Given the description of an element on the screen output the (x, y) to click on. 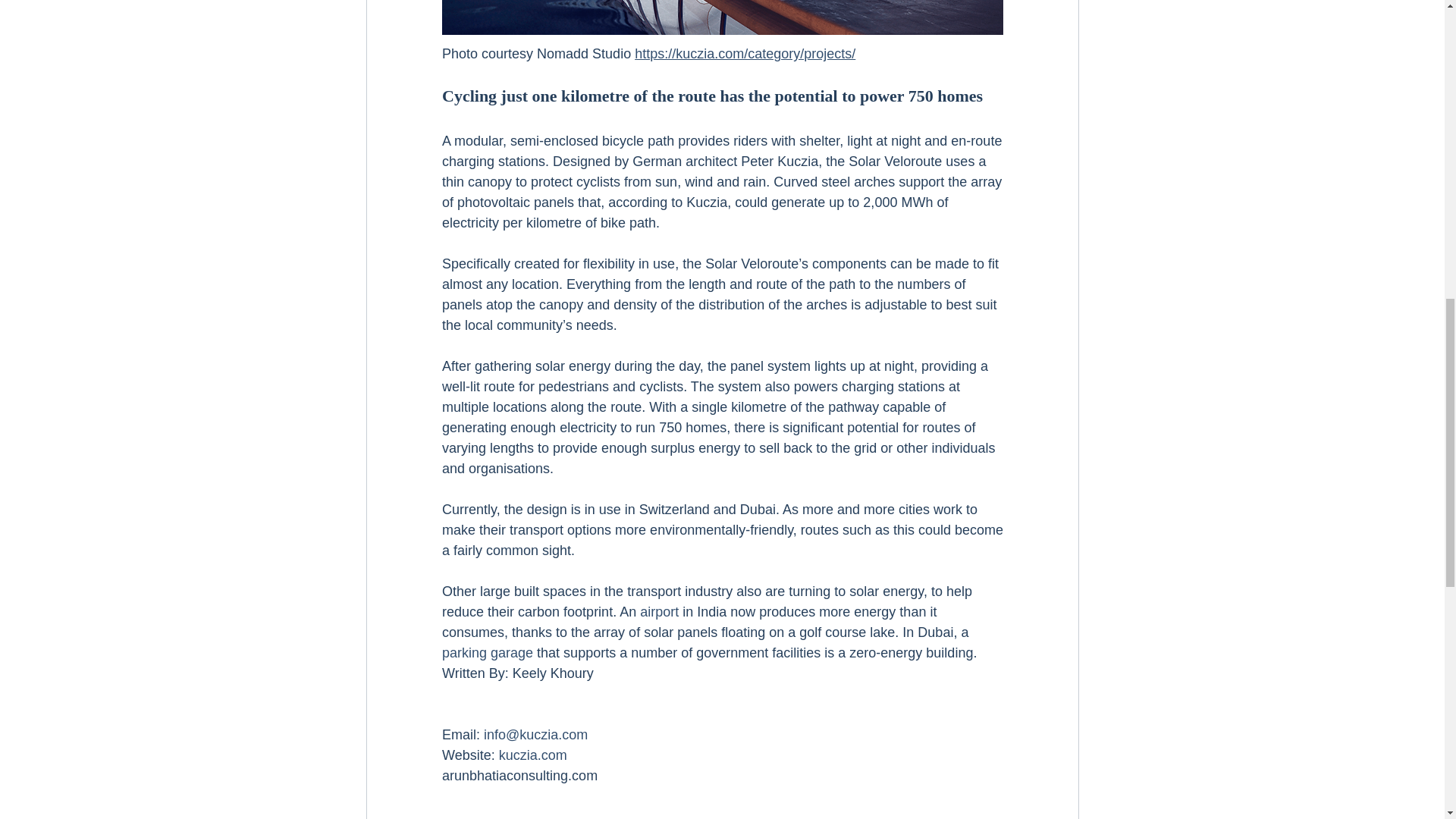
parking garage (486, 652)
airport (659, 611)
kuczia.com (531, 754)
